Given the description of an element on the screen output the (x, y) to click on. 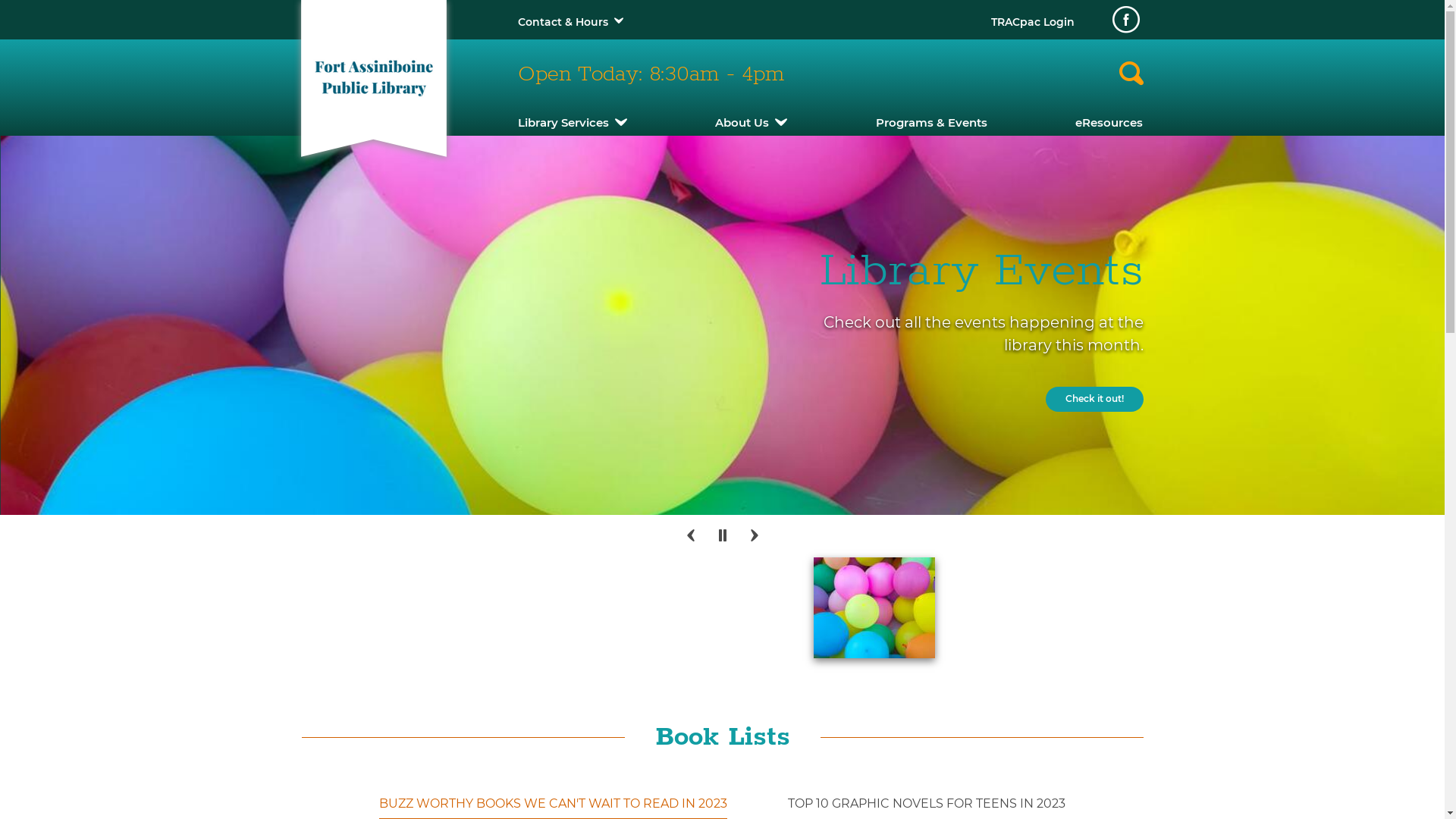
eResources Element type: text (1108, 122)
Programs & Events Element type: text (931, 122)
TRACpac Login Element type: text (1031, 21)
Find out more! Element type: text (180, 427)
Fort Assiniboine Public Library Element type: hover (372, 70)
Library Services Element type: text (571, 122)
About Us Element type: text (751, 122)
Facebook Element type: hover (1125, 19)
Contact & Hours Element type: text (562, 21)
